Given the description of an element on the screen output the (x, y) to click on. 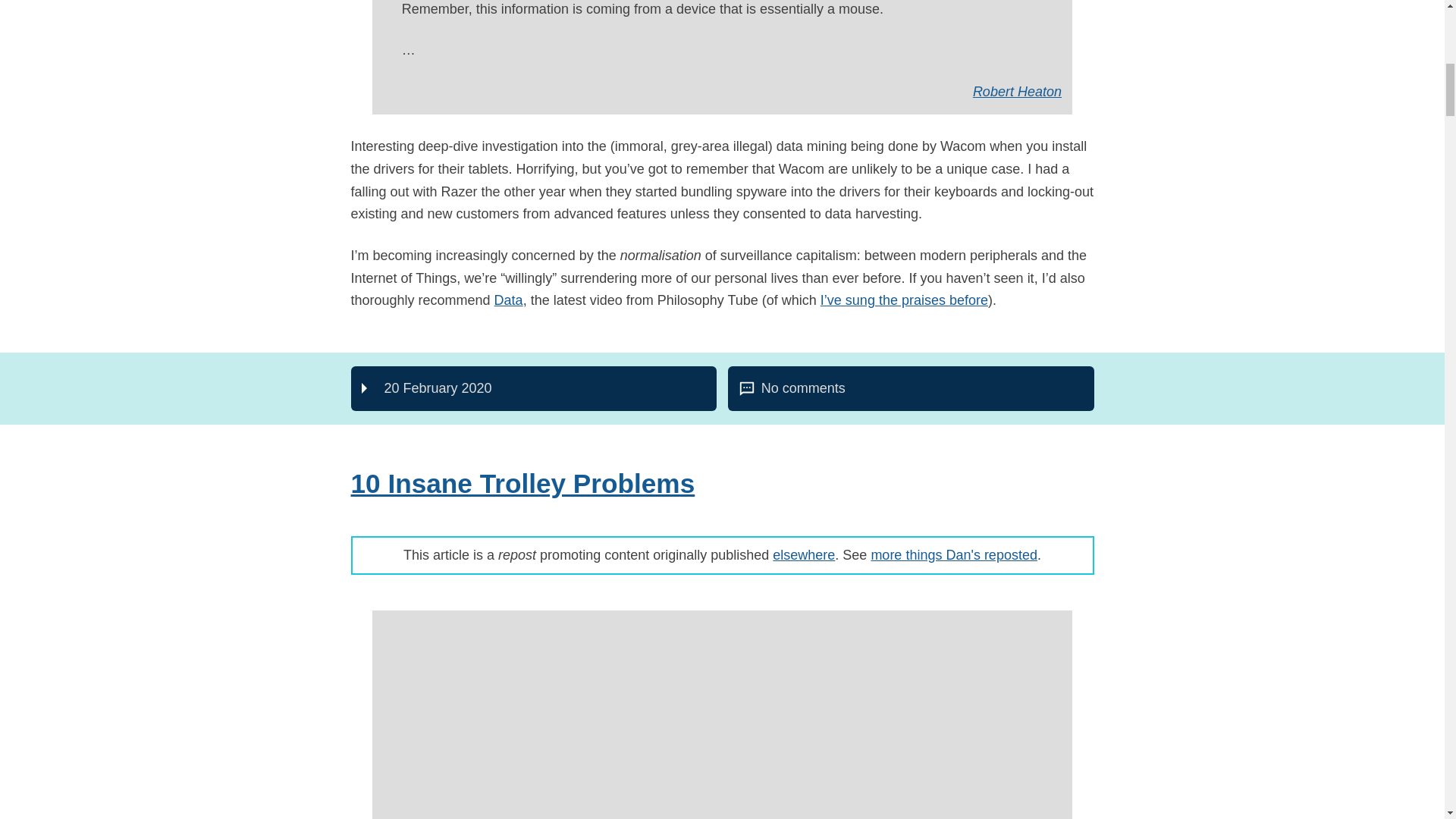
10 Insane Trolley Problems (522, 482)
Data (1016, 91)
No comments (508, 299)
